Given the description of an element on the screen output the (x, y) to click on. 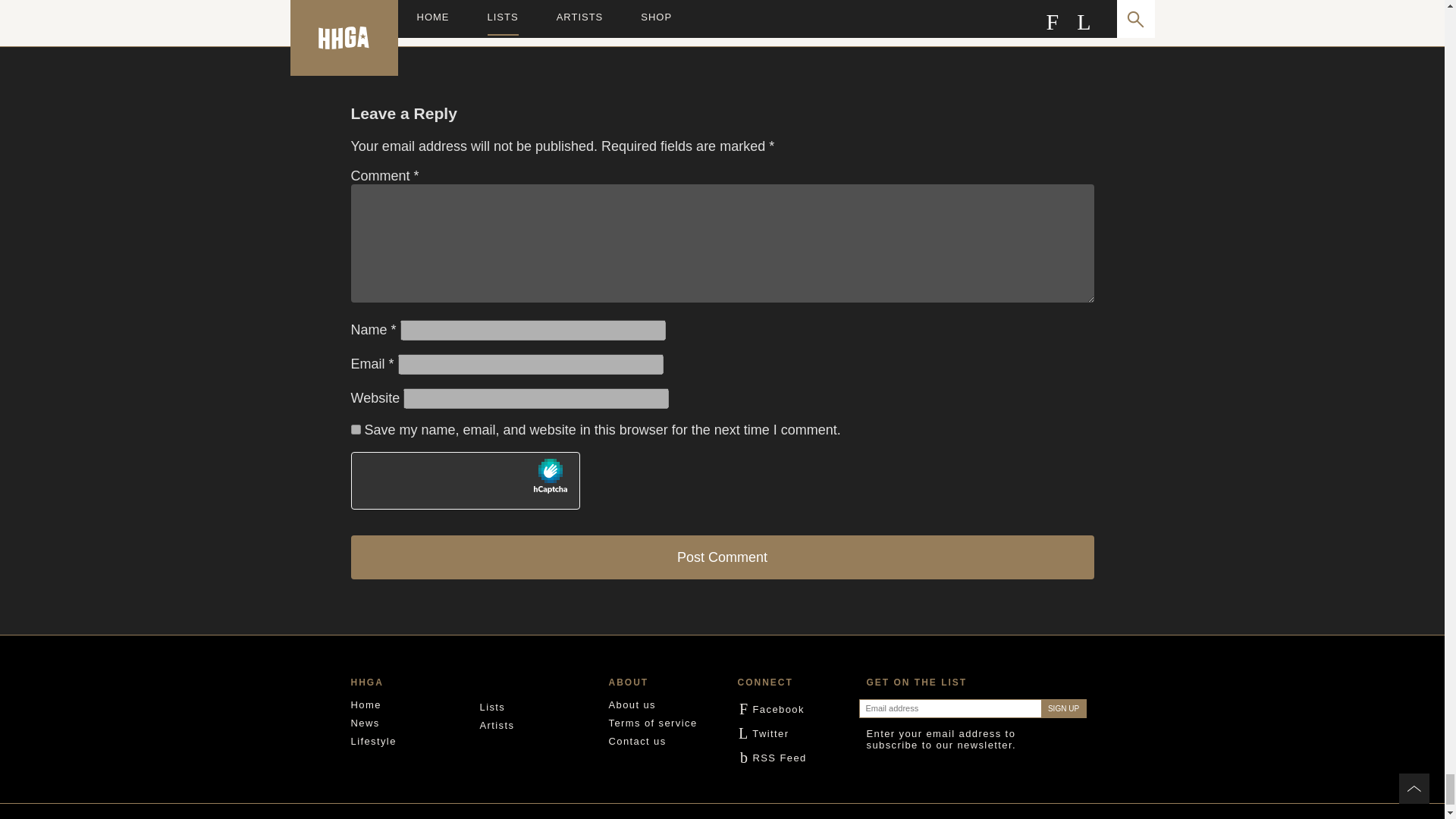
yes (354, 429)
Sign up (1063, 708)
Post Comment (721, 557)
